Given the description of an element on the screen output the (x, y) to click on. 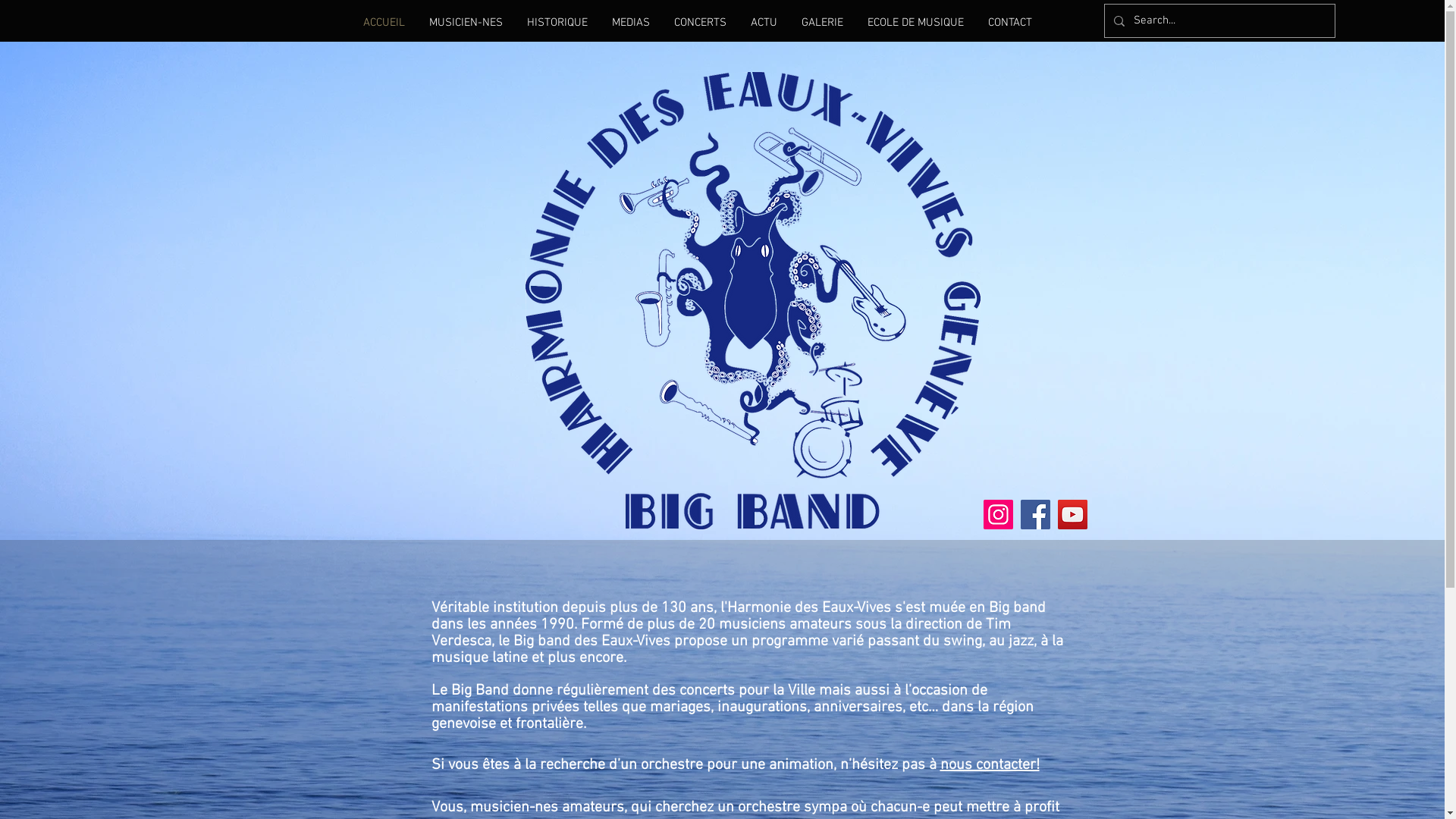
GALERIE Element type: text (821, 22)
CONTACT Element type: text (1009, 22)
MEDIAS Element type: text (630, 22)
MUSICIEN-NES Element type: text (465, 22)
nous contacter! Element type: text (989, 765)
HISTORIQUE Element type: text (556, 22)
ACCUEIL Element type: text (383, 22)
CONCERTS Element type: text (699, 22)
ACTU Element type: text (763, 22)
ECOLE DE MUSIQUE Element type: text (915, 22)
